Given the description of an element on the screen output the (x, y) to click on. 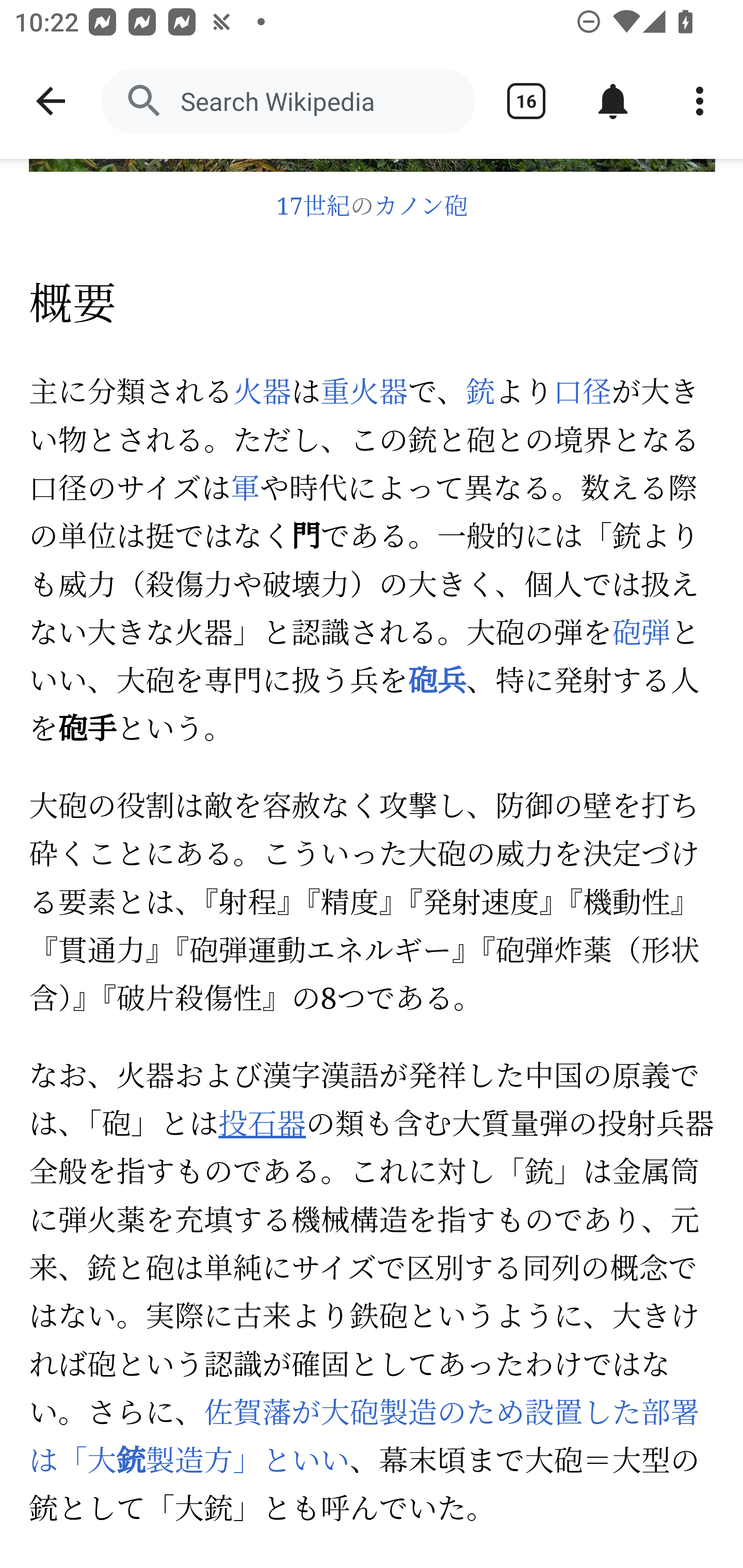
Show tabs 16 (525, 100)
Notifications (612, 100)
Navigate up (50, 101)
More options (699, 101)
Search Wikipedia (288, 100)
17世紀 (313, 208)
カノン砲 (420, 208)
火器 (261, 392)
重火器 (364, 392)
銃 (479, 392)
口径 (582, 392)
軍 (244, 491)
砲弾 (640, 635)
砲兵 (436, 683)
投石器 (261, 1126)
